Given the description of an element on the screen output the (x, y) to click on. 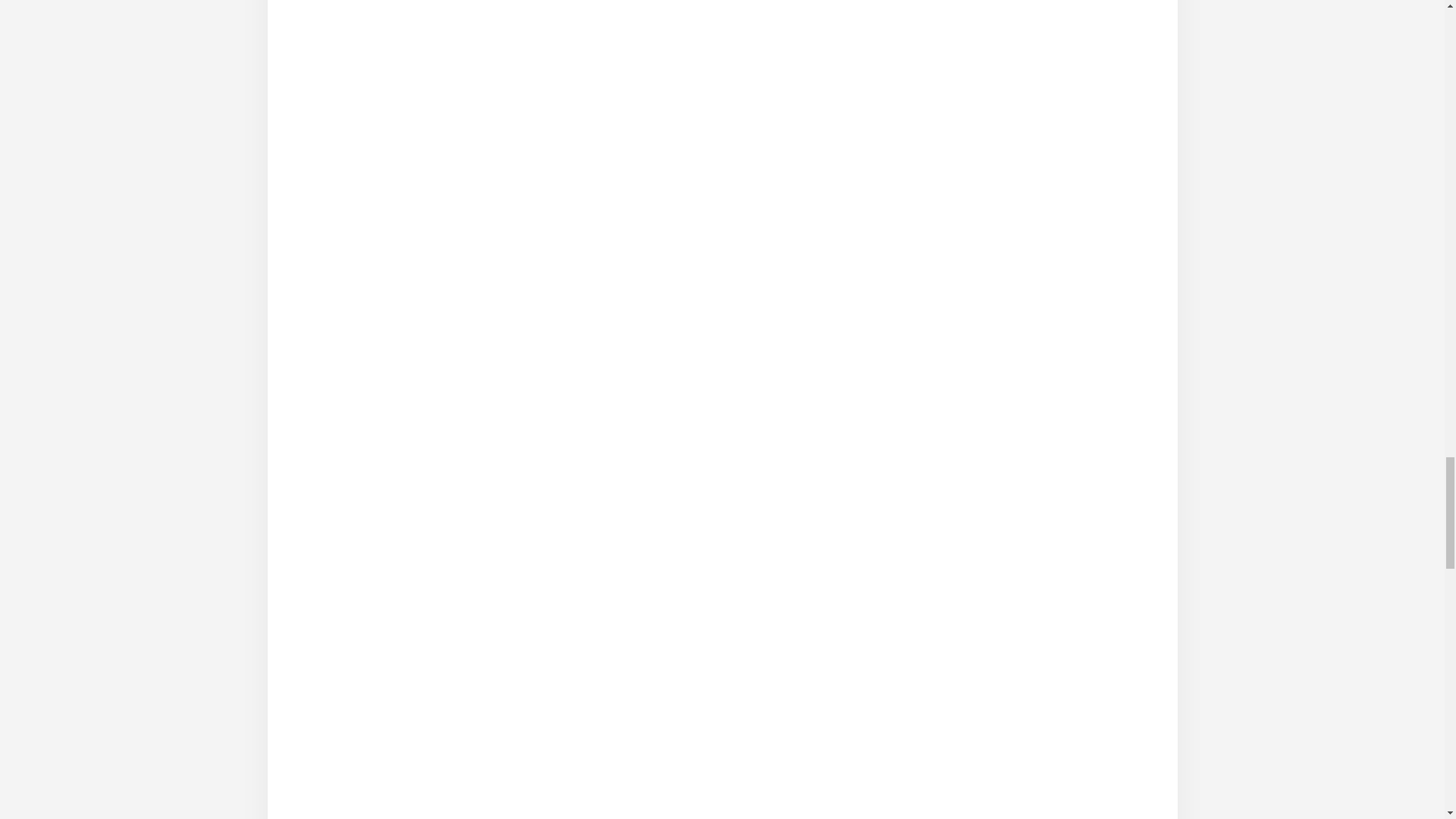
Switchable Privacy Glass (721, 401)
